Given the description of an element on the screen output the (x, y) to click on. 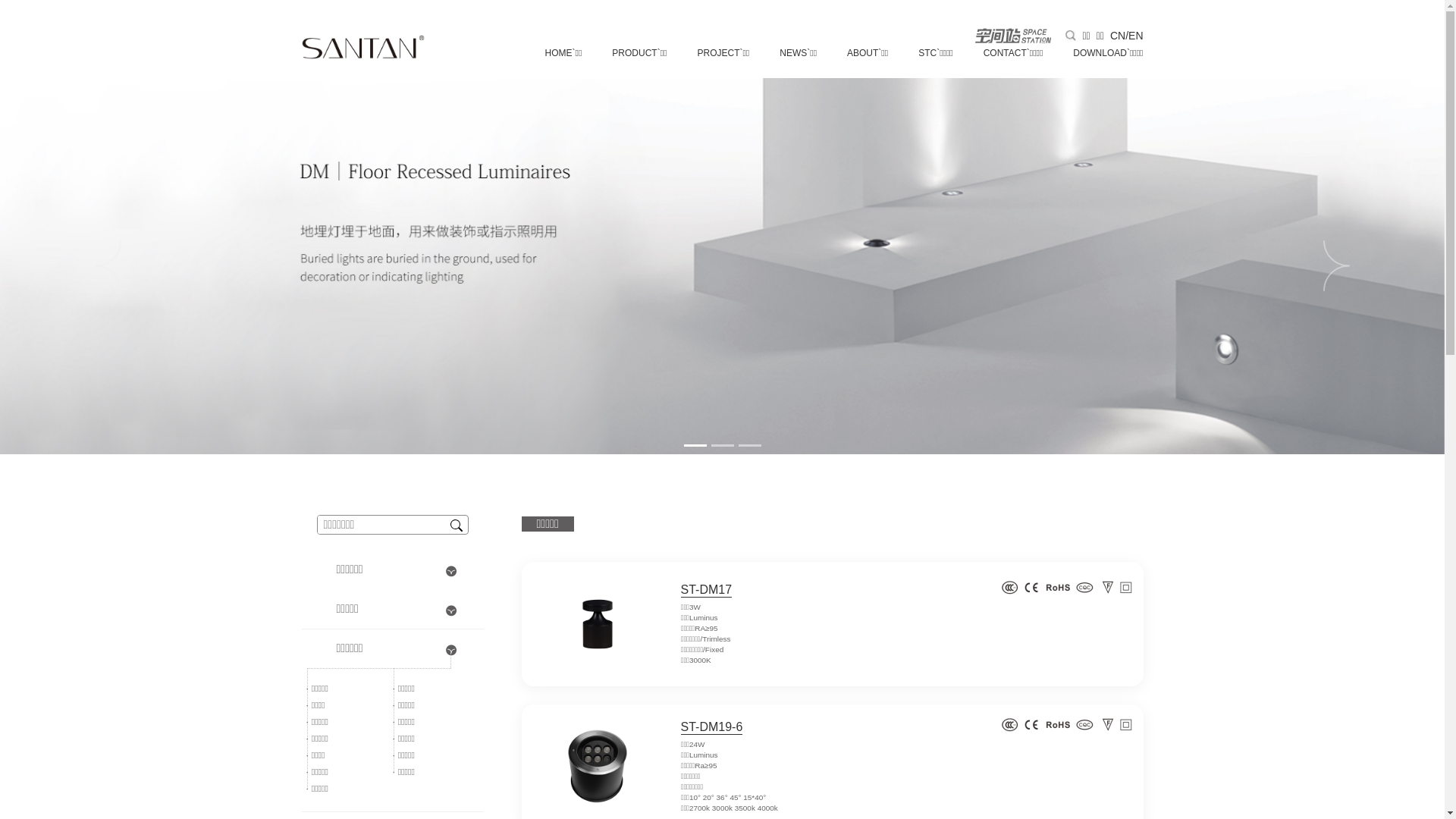
CN/EN Element type: text (1126, 35)
